Given the description of an element on the screen output the (x, y) to click on. 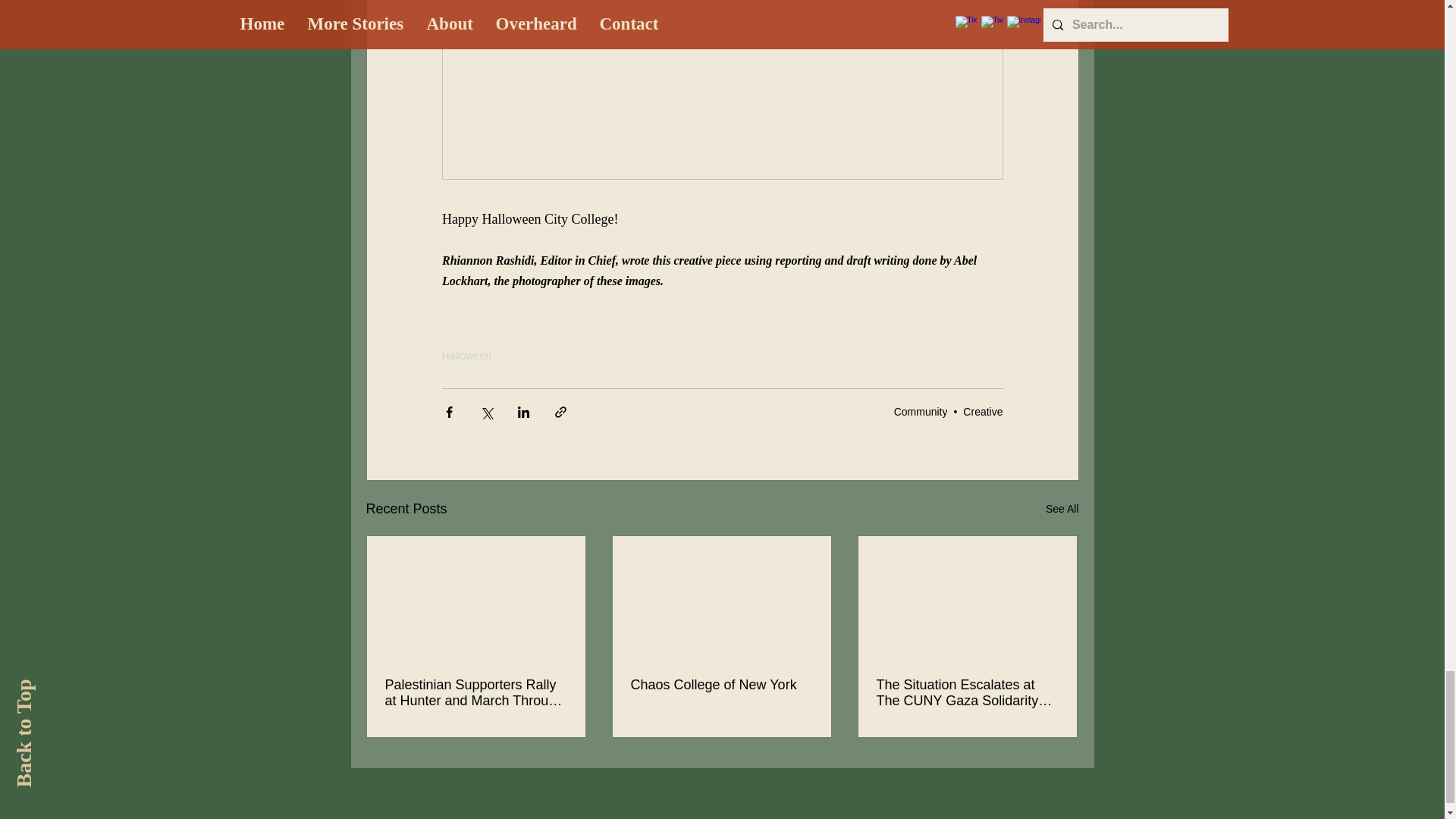
See All (1061, 508)
Community (920, 411)
Creative (982, 411)
Chaos College of New York (721, 684)
Halloween (465, 355)
